Given the description of an element on the screen output the (x, y) to click on. 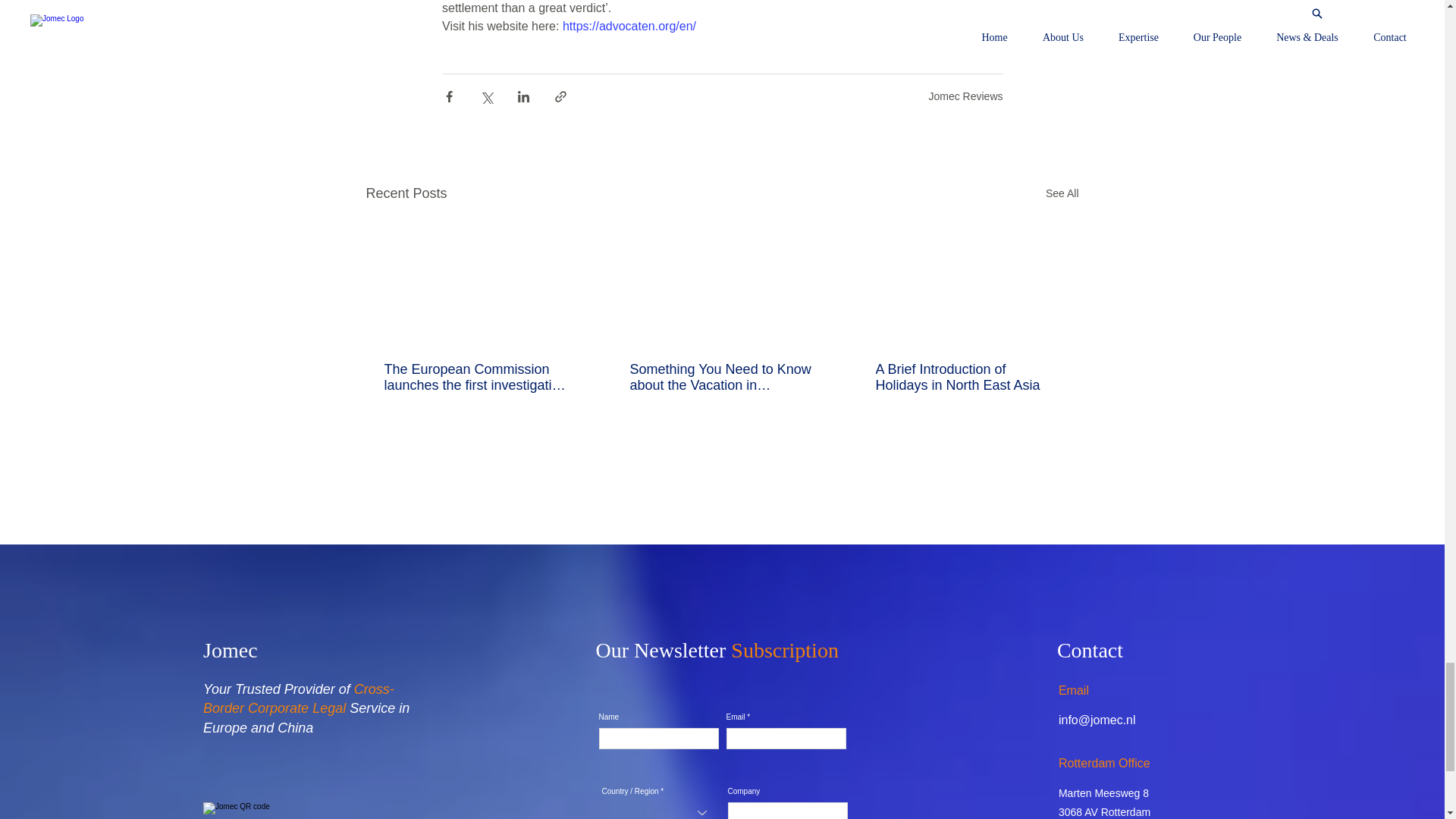
A Brief Introduction of Holidays in North East Asia (966, 377)
See All (1061, 193)
Something You Need to Know about the Vacation in Germany (720, 377)
Jomec (230, 649)
Jomec Reviews (965, 96)
